Given the description of an element on the screen output the (x, y) to click on. 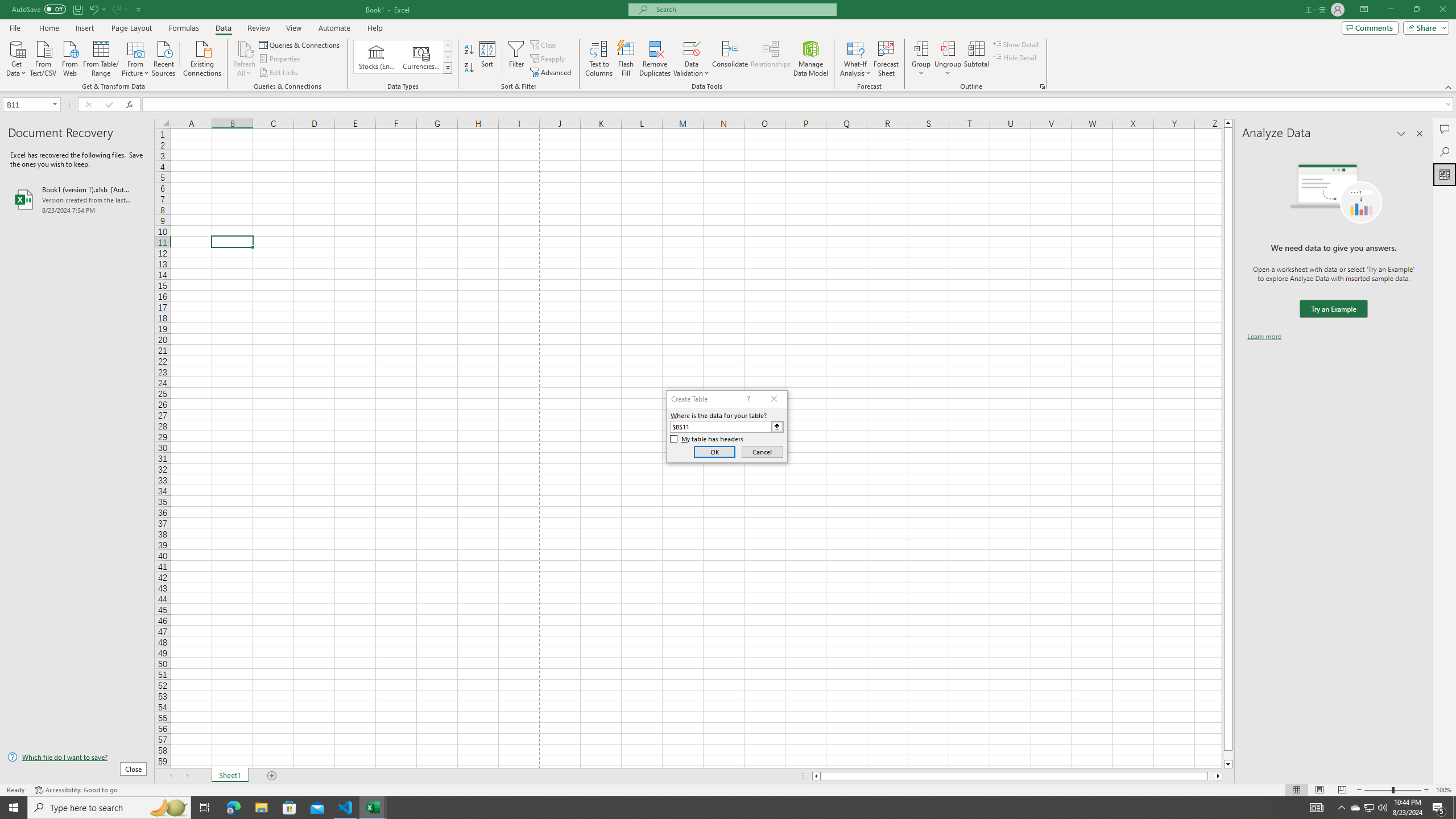
Save (77, 9)
Show Detail (1016, 44)
AutoSave (38, 9)
Close pane (1419, 133)
Advanced... (551, 72)
Clear (544, 44)
Refresh All (244, 48)
Forecast Sheet (885, 58)
Filter (515, 58)
We need data to give you answers. Try an Example (1333, 308)
Insert (83, 28)
Stocks (English) (375, 56)
